Given the description of an element on the screen output the (x, y) to click on. 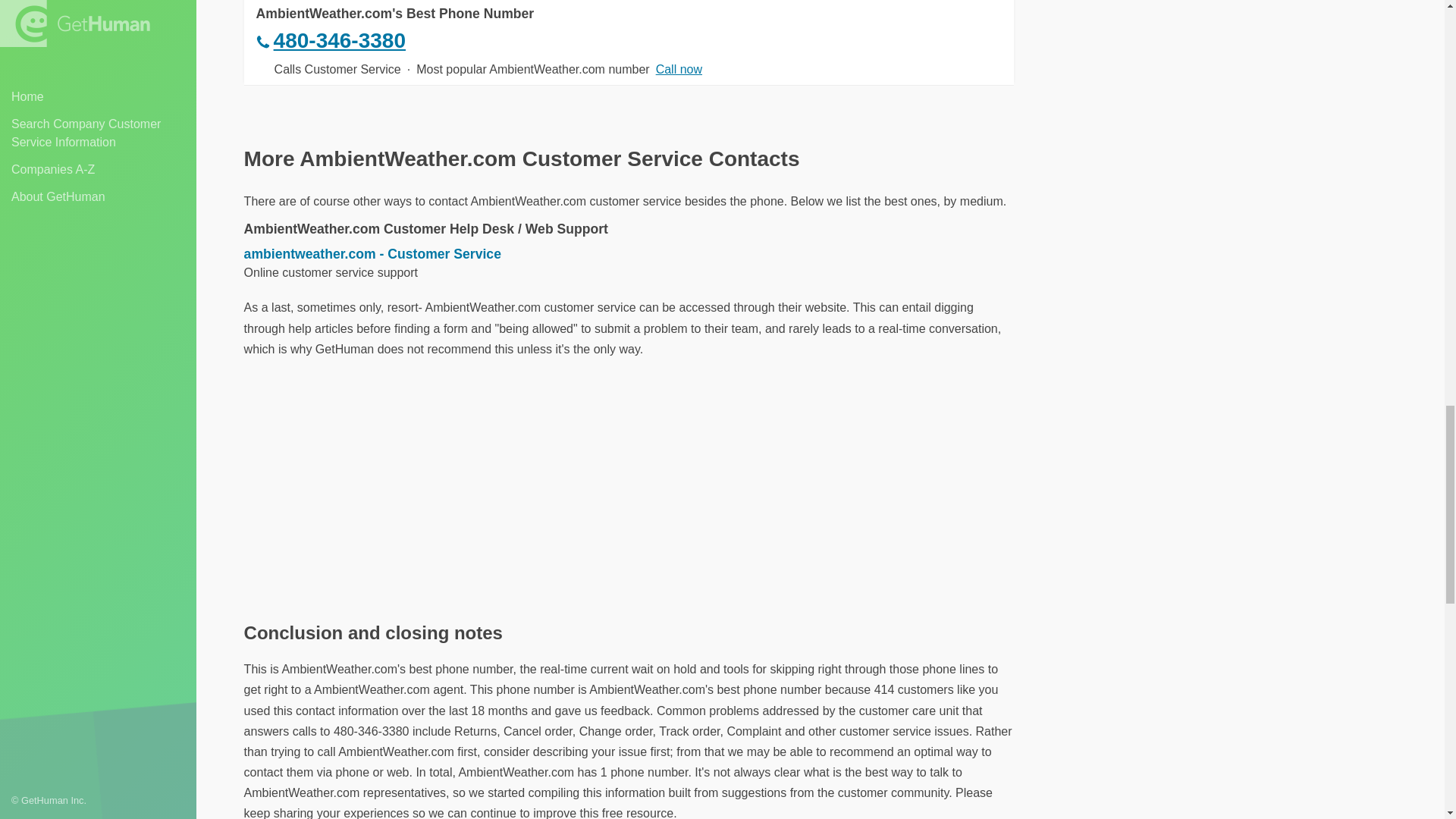
ambientweather.com - Customer Service (629, 253)
